Given the description of an element on the screen output the (x, y) to click on. 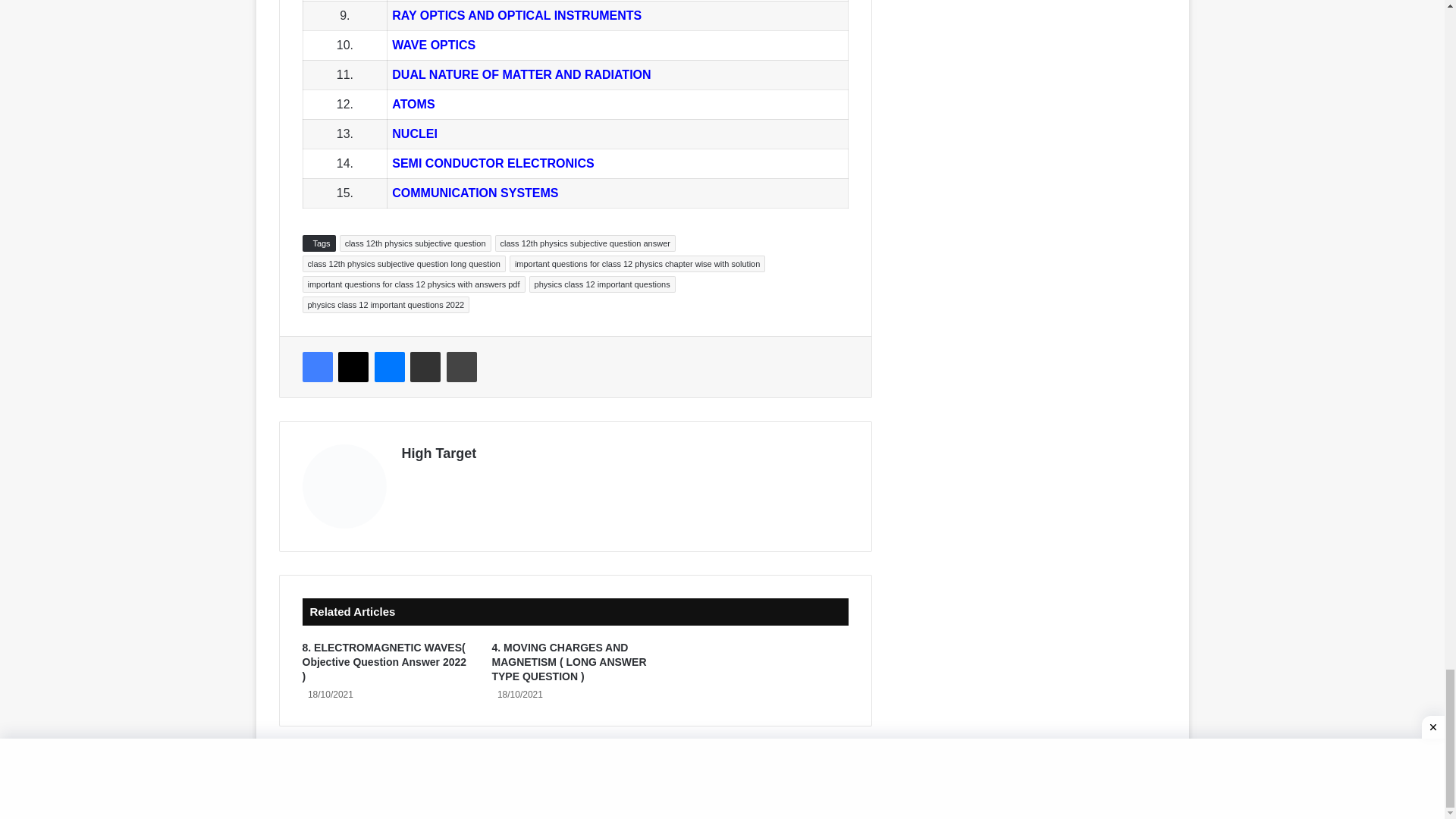
RAY OPTICS AND OPTICAL INSTRUMENTS (516, 15)
X (352, 367)
Share via Email (425, 367)
NUCLEI (414, 133)
Facebook (316, 367)
WAVE OPTICS (433, 44)
DUAL NATURE OF MATTER AND RADIATION (520, 74)
SEMI CONDUCTOR ELECTRONICS  (493, 163)
ATOMS (412, 103)
Messenger (389, 367)
